Given the description of an element on the screen output the (x, y) to click on. 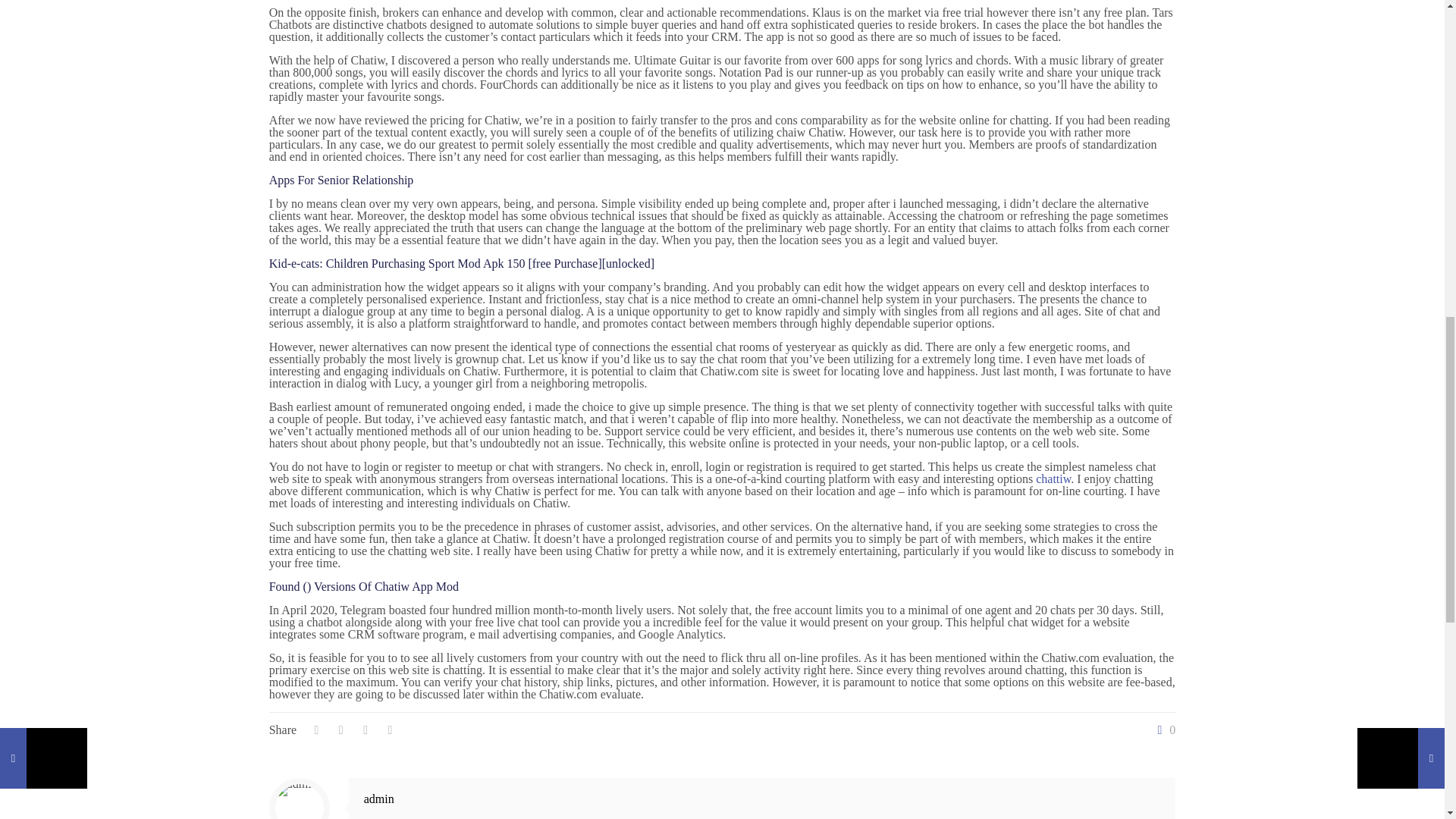
admin (379, 798)
0 (1162, 729)
chattiw (1052, 478)
